Given the description of an element on the screen output the (x, y) to click on. 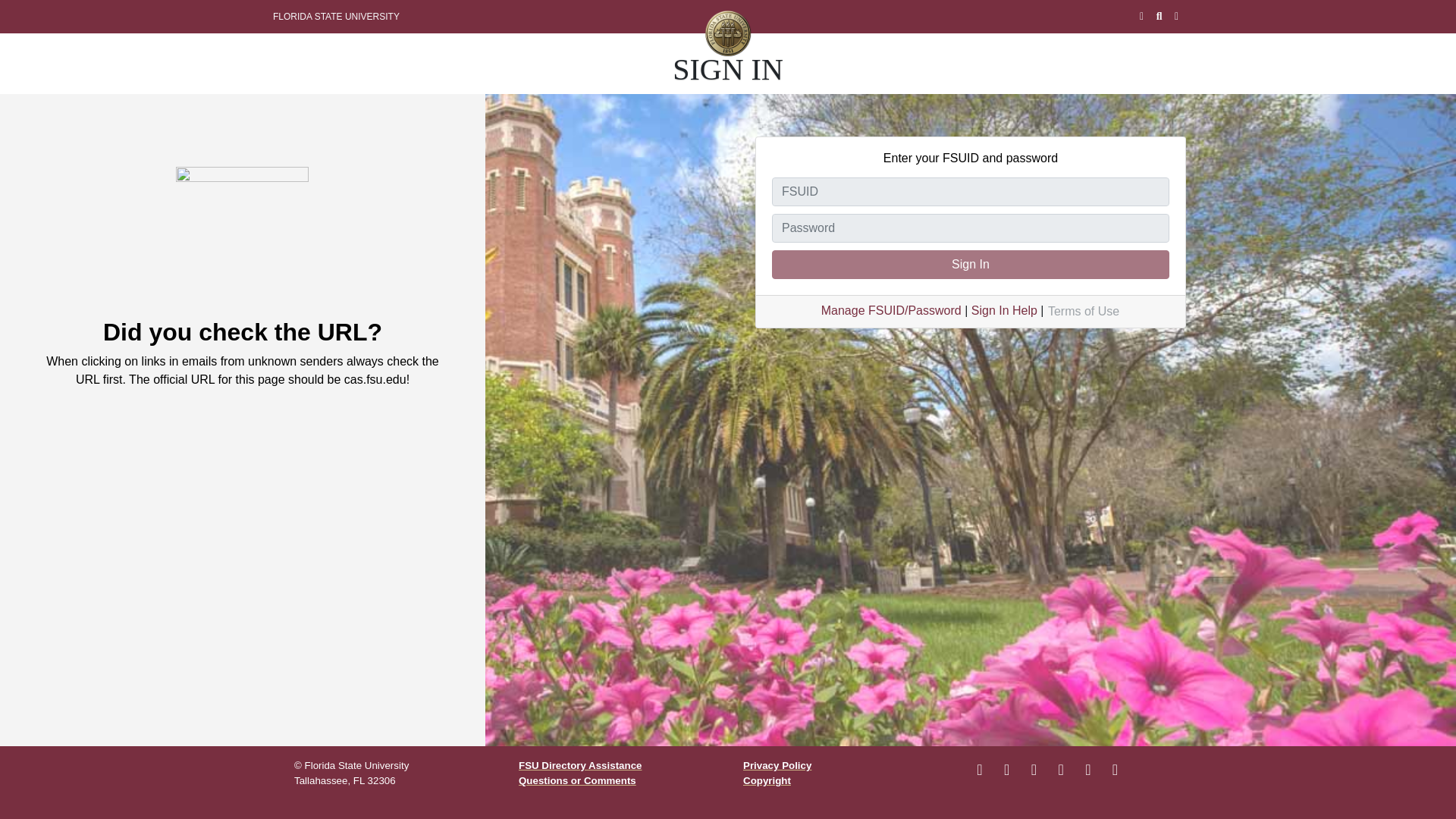
Sign In (970, 264)
Privacy Policy (776, 765)
FSU Social Media (1114, 769)
FSU Webmail (1141, 16)
Terms of Use (1082, 311)
Connect with Florida State on LinkedIn (1088, 769)
Terms of Use (1082, 311)
Follow Florida State on Twitter (1033, 769)
Like Florida State on Facebook (979, 769)
Follow Florida State on Youtube (1060, 769)
Search (1159, 16)
FSU Sites (1176, 16)
FLORIDA STATE UNIVERSITY (335, 16)
FSU Directory Assistance (580, 765)
